Given the description of an element on the screen output the (x, y) to click on. 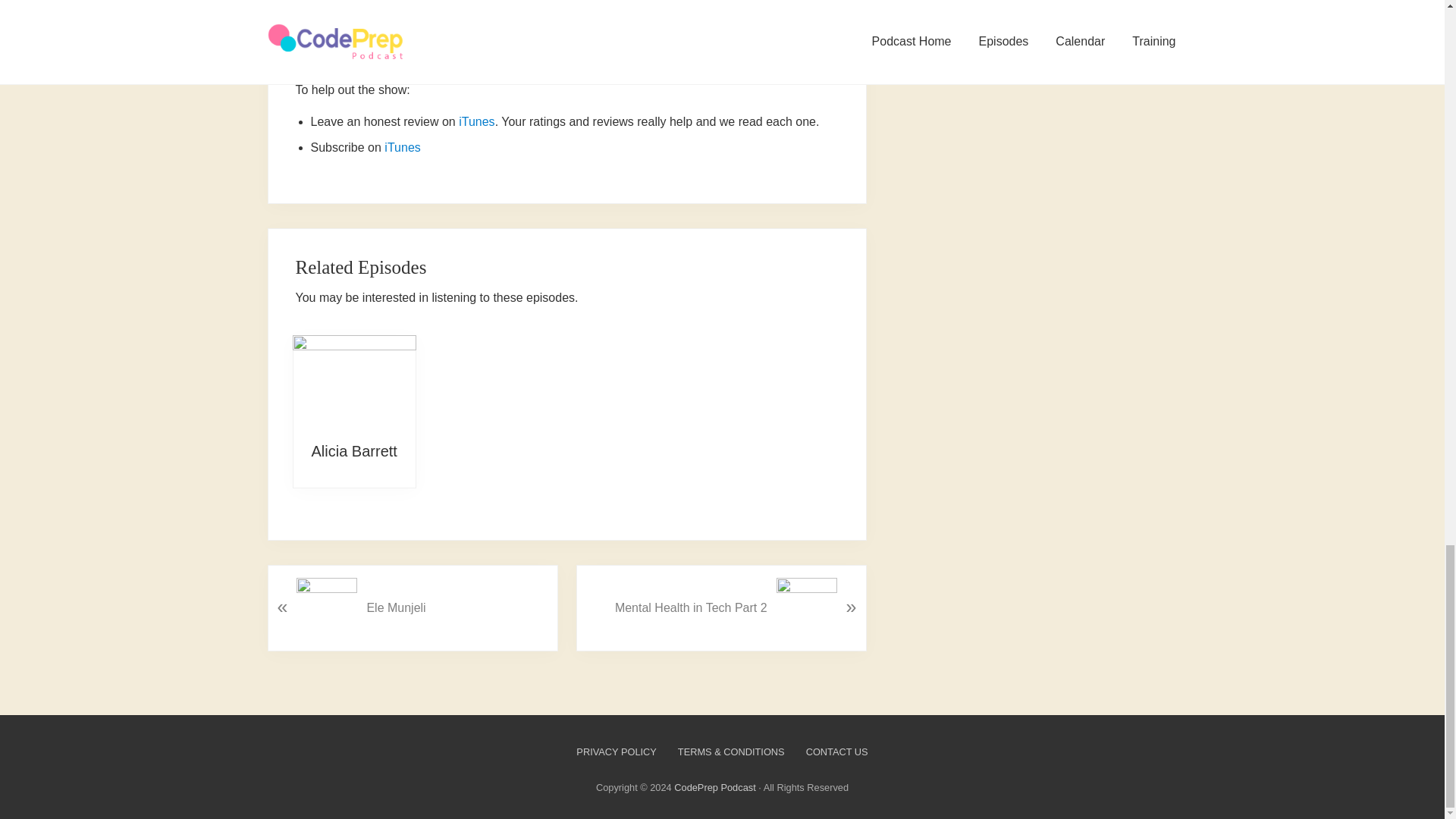
Alicia Barrett (353, 451)
Pinterest (552, 51)
Facebook (485, 51)
Twitter (433, 51)
CodePrep Podcast (714, 787)
Alicia Barrett (353, 451)
iTunes (476, 121)
Alicia Barrett (354, 381)
iTunes (402, 146)
